Given the description of an element on the screen output the (x, y) to click on. 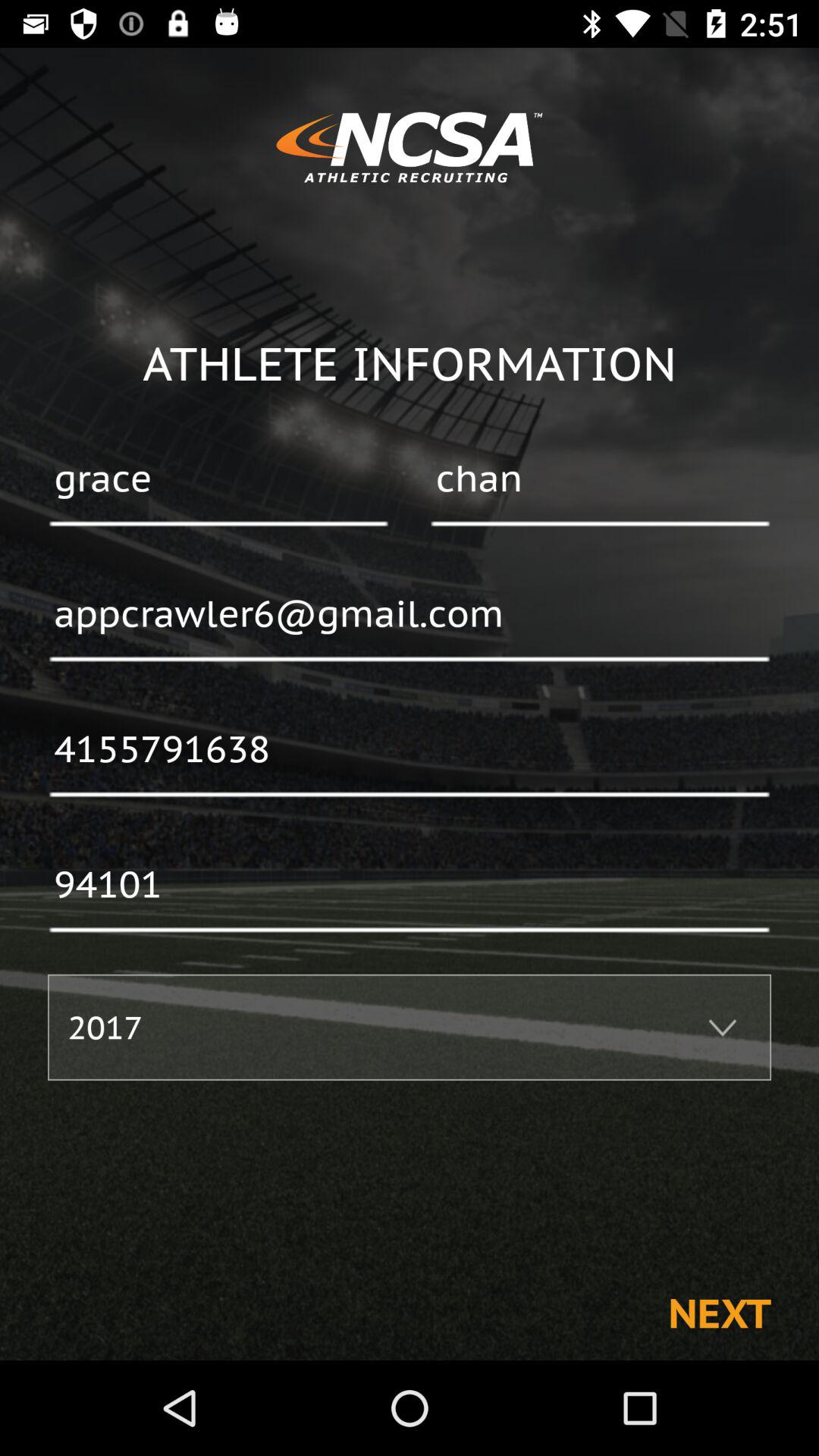
turn off the item below 2017 item (719, 1312)
